Given the description of an element on the screen output the (x, y) to click on. 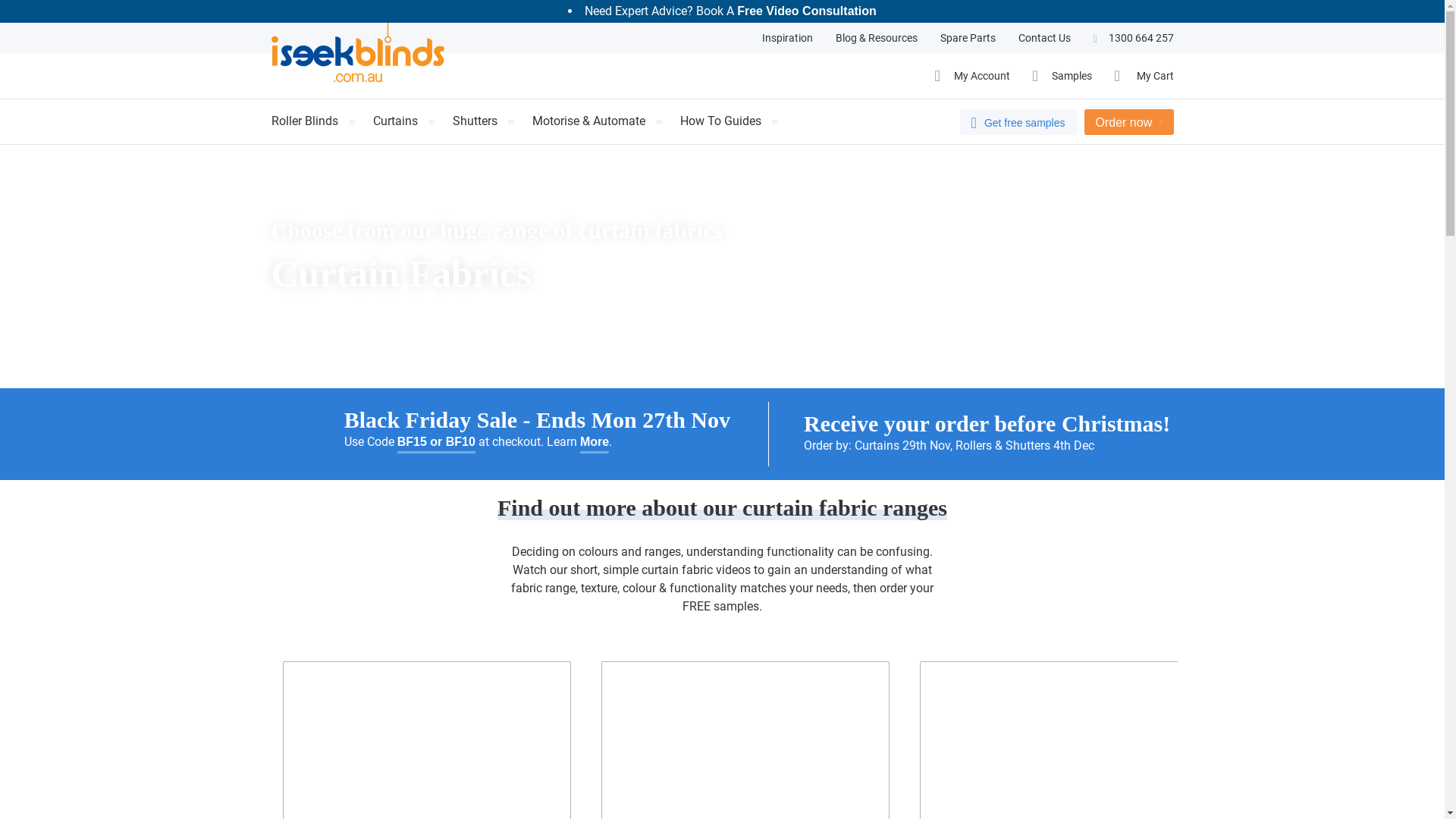
Blog & Resources Element type: text (875, 37)
More Element type: text (594, 443)
1300 664 257 Element type: text (1132, 37)
Contact Us Element type: text (1044, 37)
Roller Blinds Element type: text (304, 121)
YouTube video player Element type: hover (425, 740)
Order now Element type: text (1128, 121)
Samples Element type: text (1062, 75)
My Account Element type: text (971, 75)
YouTube video player Element type: hover (1062, 740)
BF15 or BF10 Element type: text (436, 443)
Inspiration Element type: text (787, 37)
My Cart Element type: text (1143, 75)
Motorise & Automate Element type: text (588, 121)
Curtains Element type: text (395, 121)
How To Guides Element type: text (719, 121)
Get free samples Element type: text (1018, 121)
Spare Parts Element type: text (967, 37)
Shutters Element type: text (473, 121)
YouTube video player Element type: hover (744, 740)
Free Video Consultation Element type: text (806, 10)
